Given the description of an element on the screen output the (x, y) to click on. 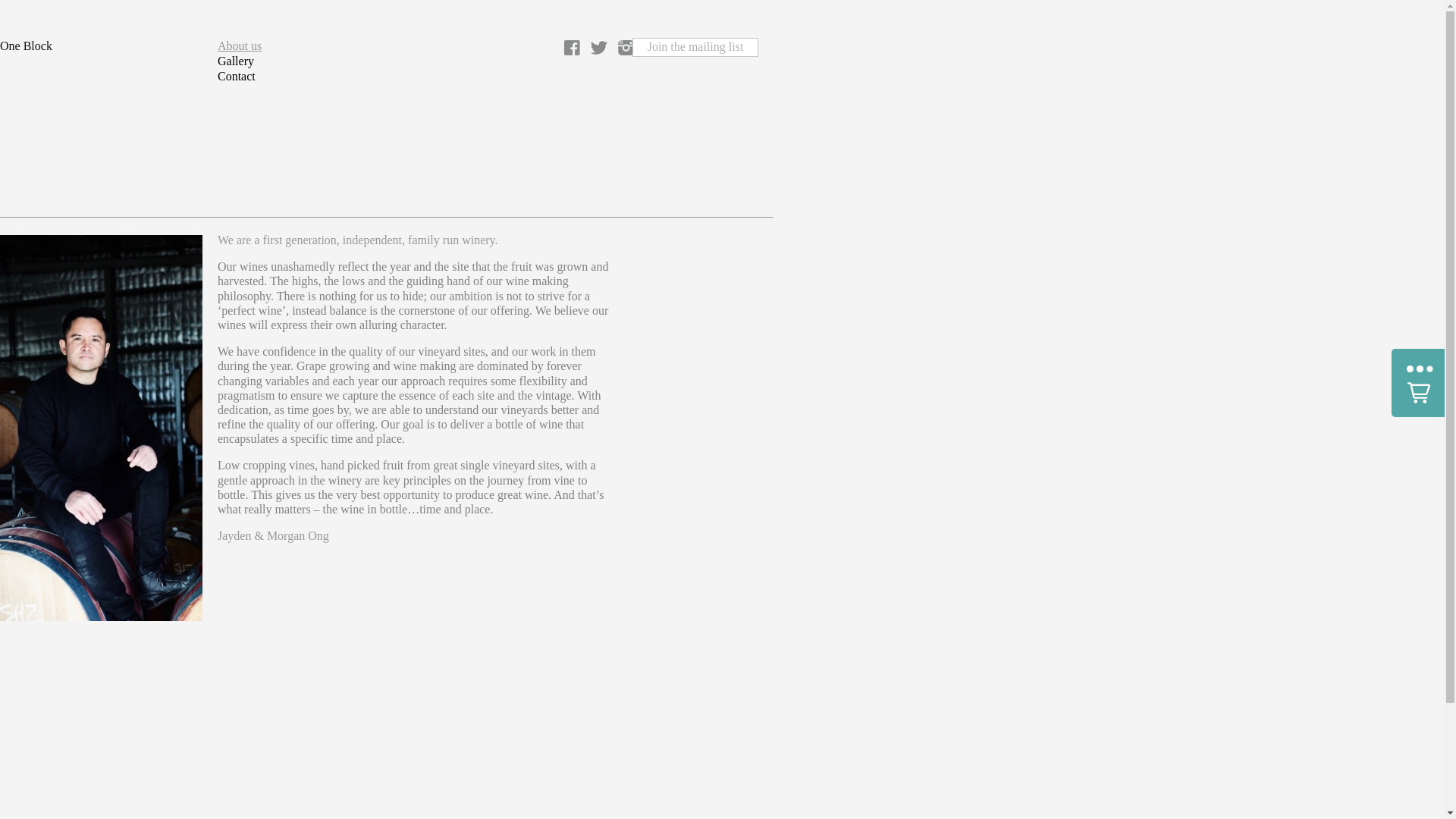
About us Element type: text (253, 45)
Contact Element type: text (253, 76)
Gallery Element type: text (253, 61)
One Block Element type: text (28, 45)
Join the mailing list Element type: text (695, 46)
